Given the description of an element on the screen output the (x, y) to click on. 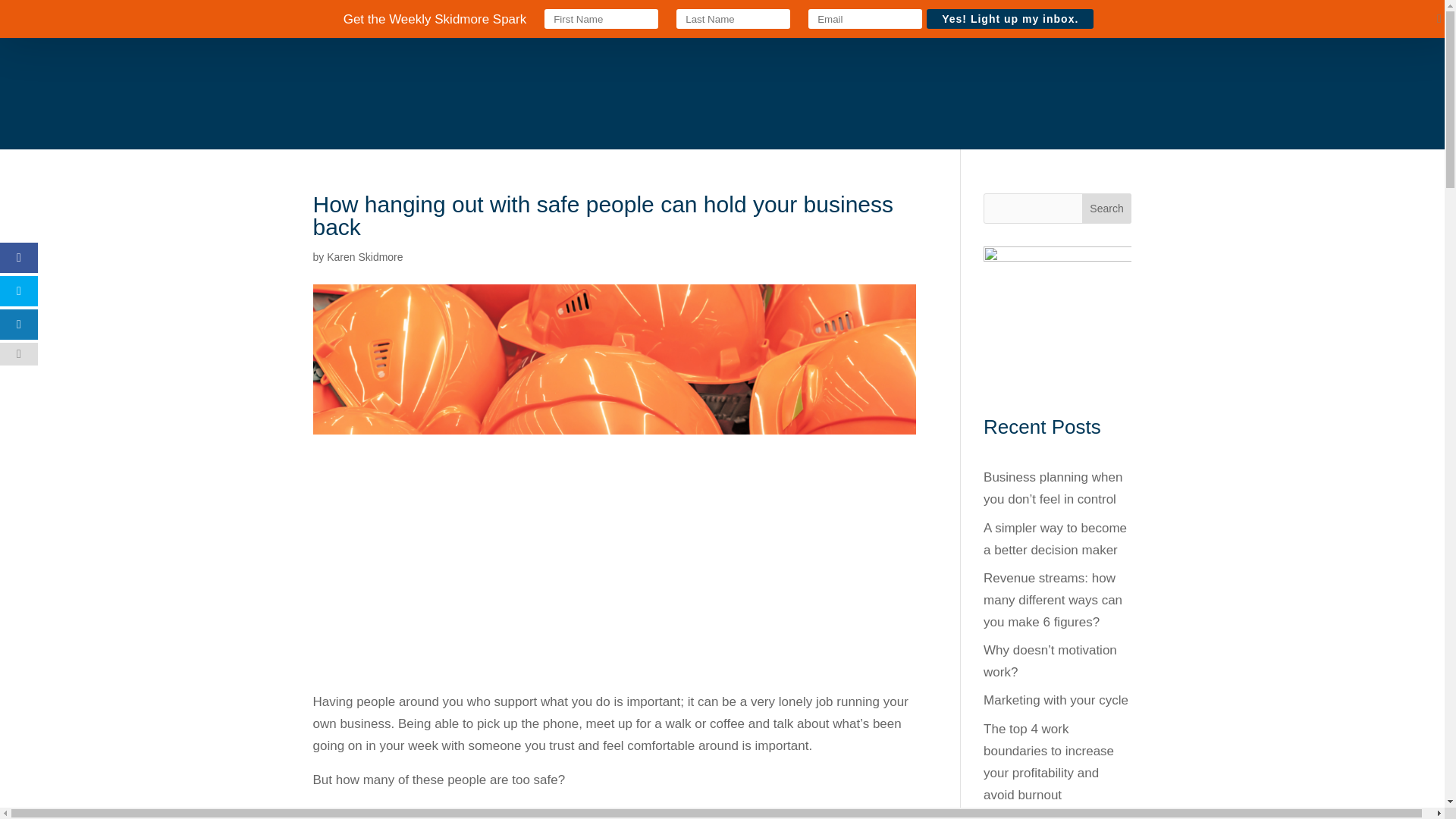
Search (1106, 208)
Yes! Light up my inbox. (1009, 18)
Client Stories (649, 25)
Home (483, 25)
Posts by Karen Skidmore (364, 256)
Work With Us (555, 25)
A simpler way to become a better decision maker (1055, 538)
About Karen (879, 25)
Marketing with your cycle (1056, 699)
Karen Skidmore (364, 256)
